Given the description of an element on the screen output the (x, y) to click on. 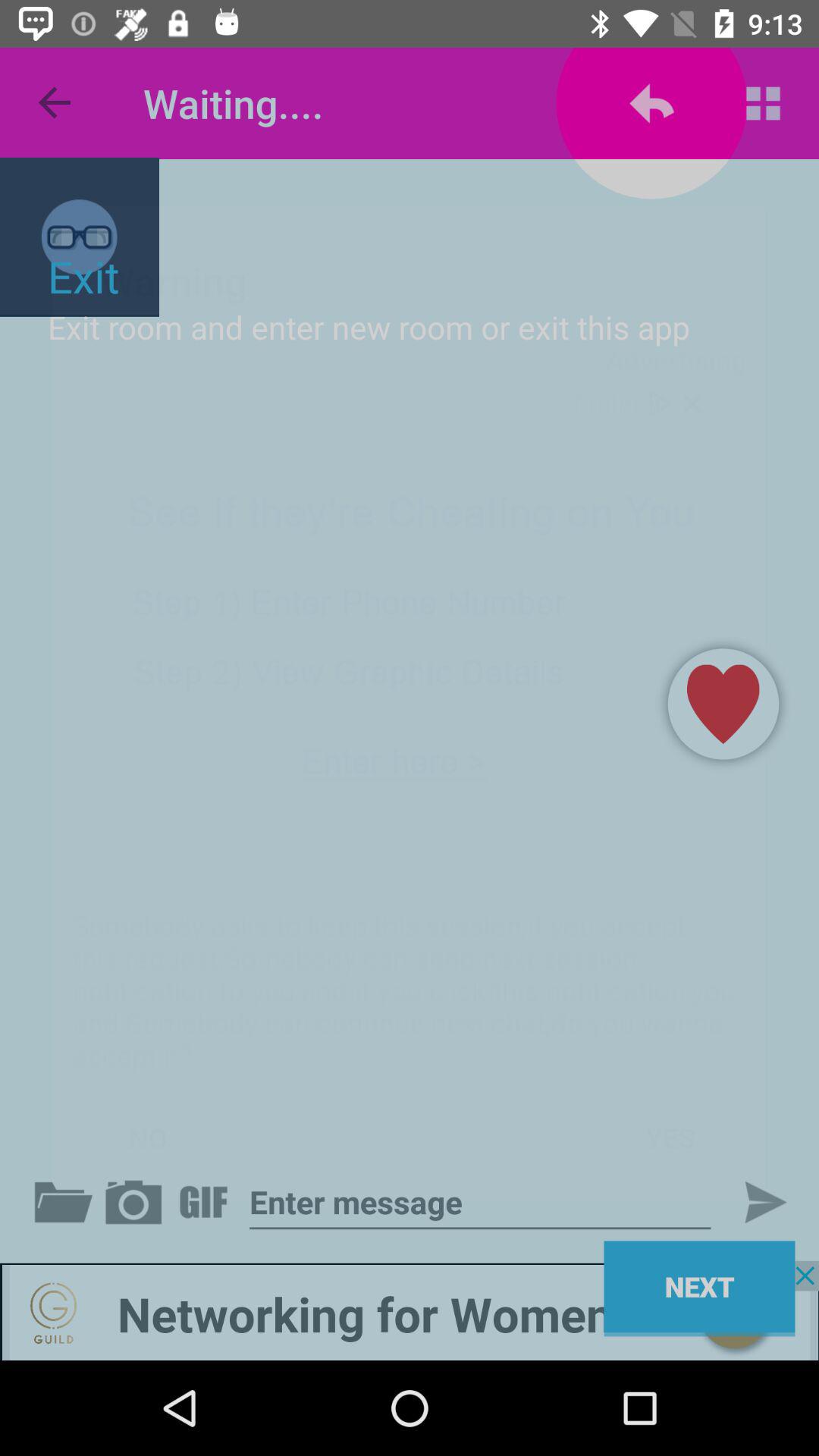
enter the submit box (752, 1202)
